Given the description of an element on the screen output the (x, y) to click on. 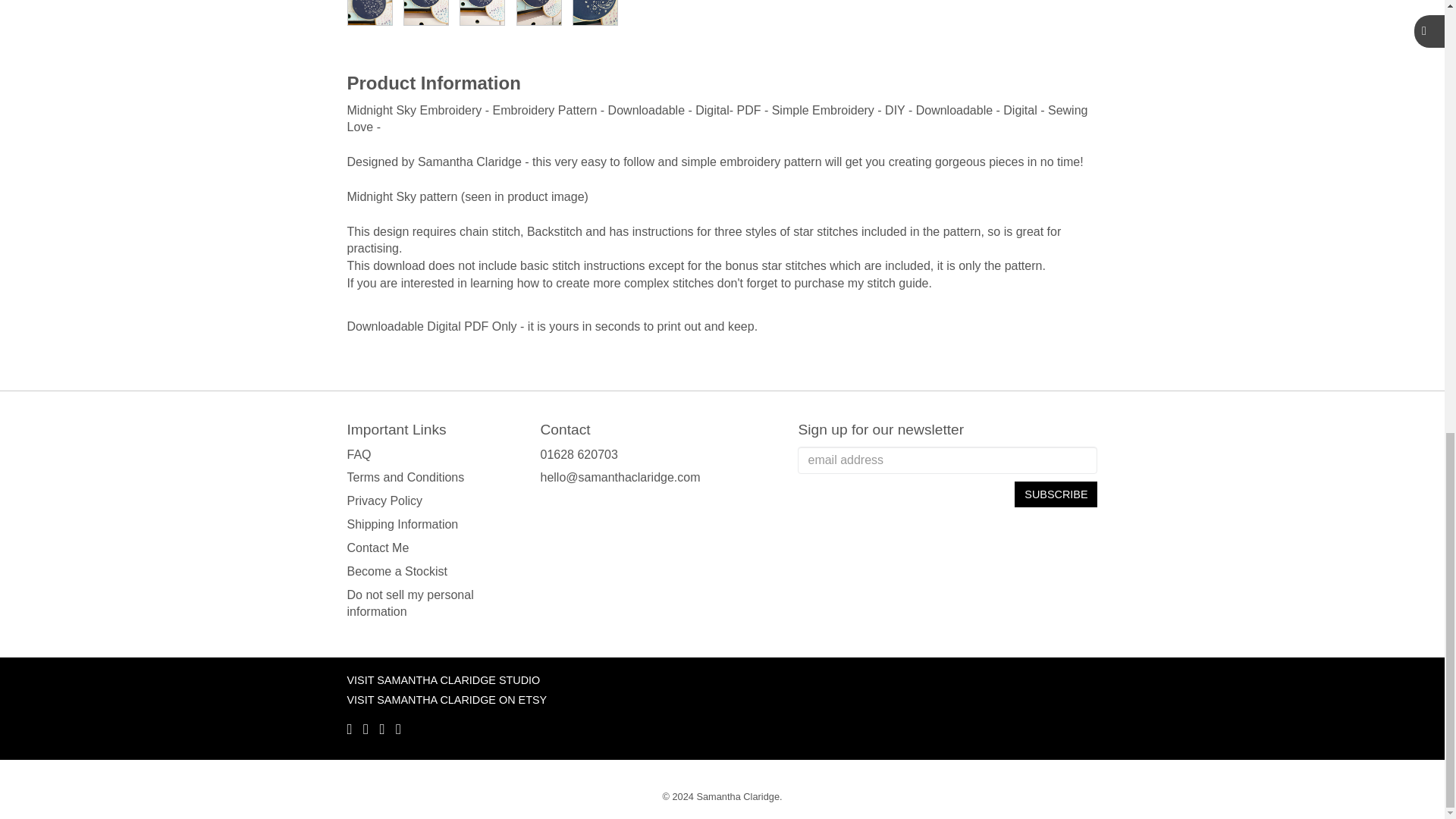
Subscribe (1055, 494)
